Given the description of an element on the screen output the (x, y) to click on. 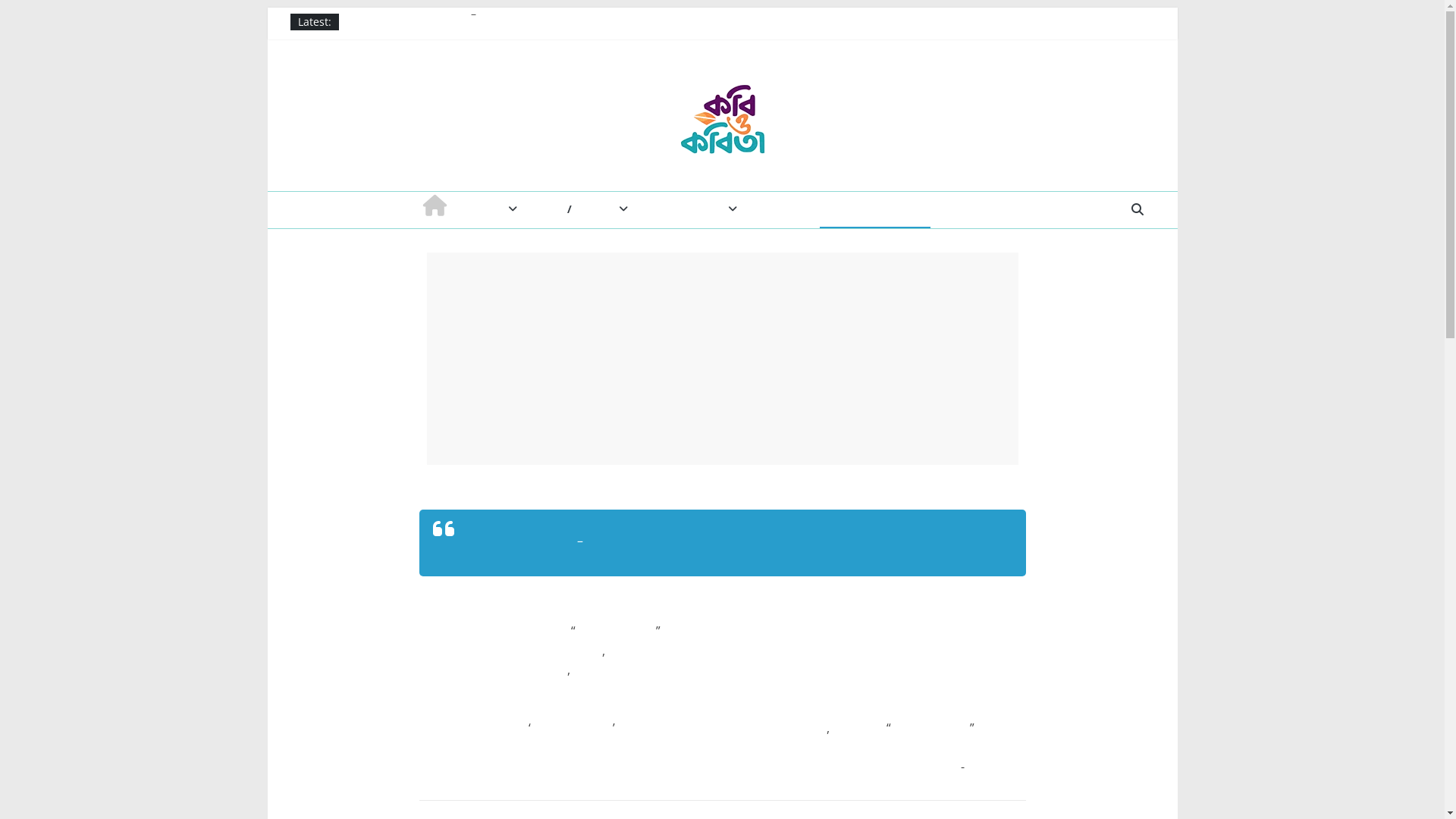
Advertisement Element type: hover (721, 358)
Skip to content Element type: text (266, 6)
